Given the description of an element on the screen output the (x, y) to click on. 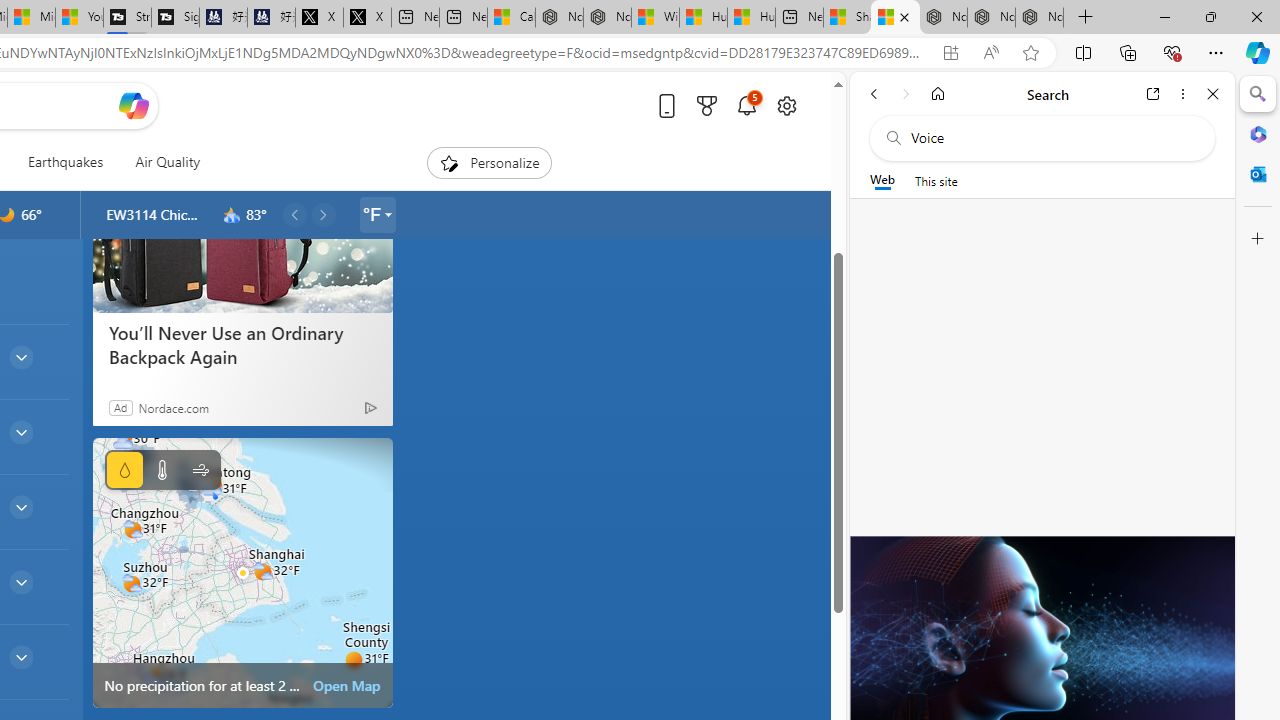
locationBar/triangle (387, 214)
App available. Install Microsoft Start Weather (950, 53)
static map image of vector map (242, 572)
Air Quality (159, 162)
Wind (199, 470)
